Given the description of an element on the screen output the (x, y) to click on. 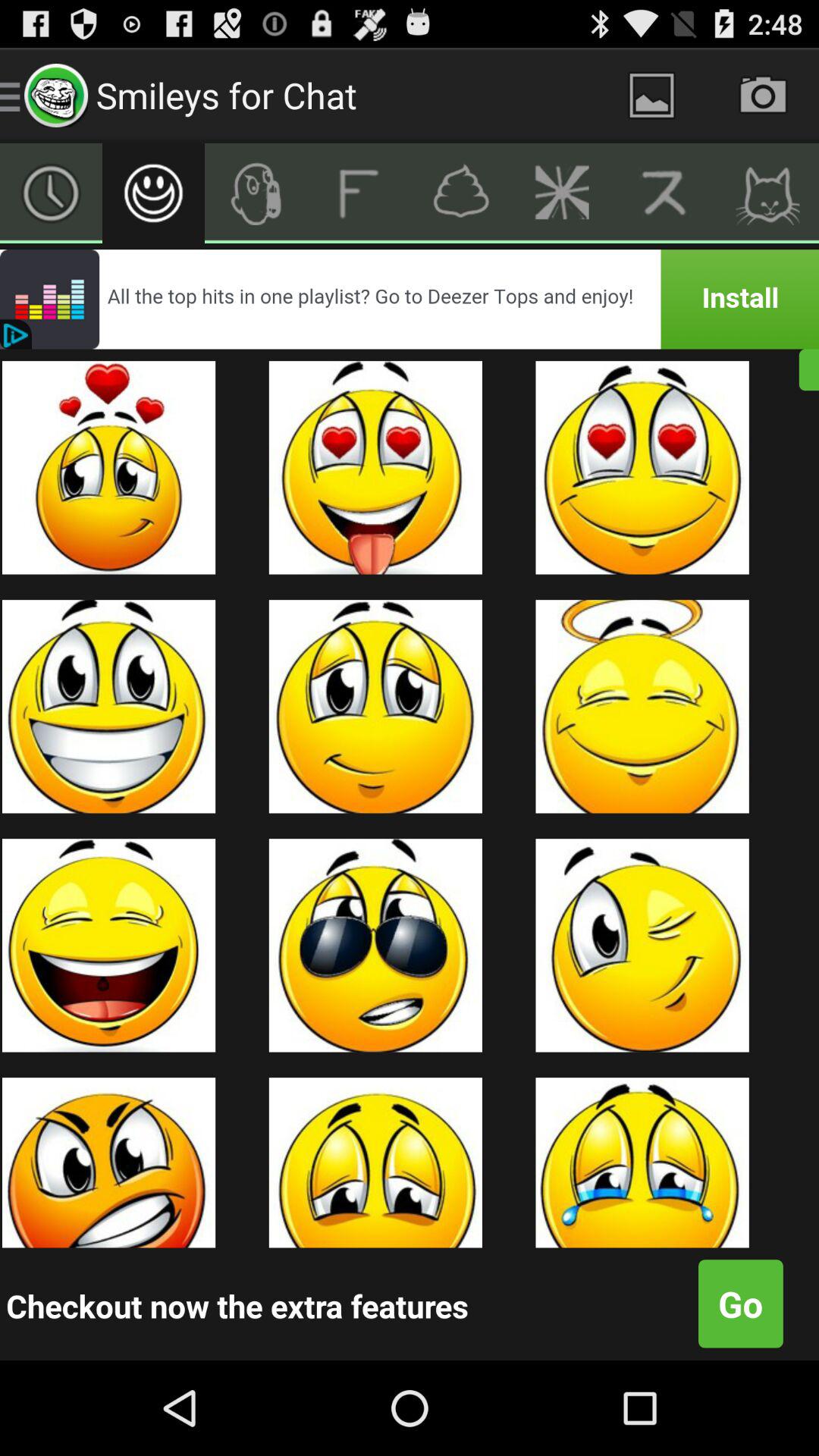
click animal head button (767, 193)
